Given the description of an element on the screen output the (x, y) to click on. 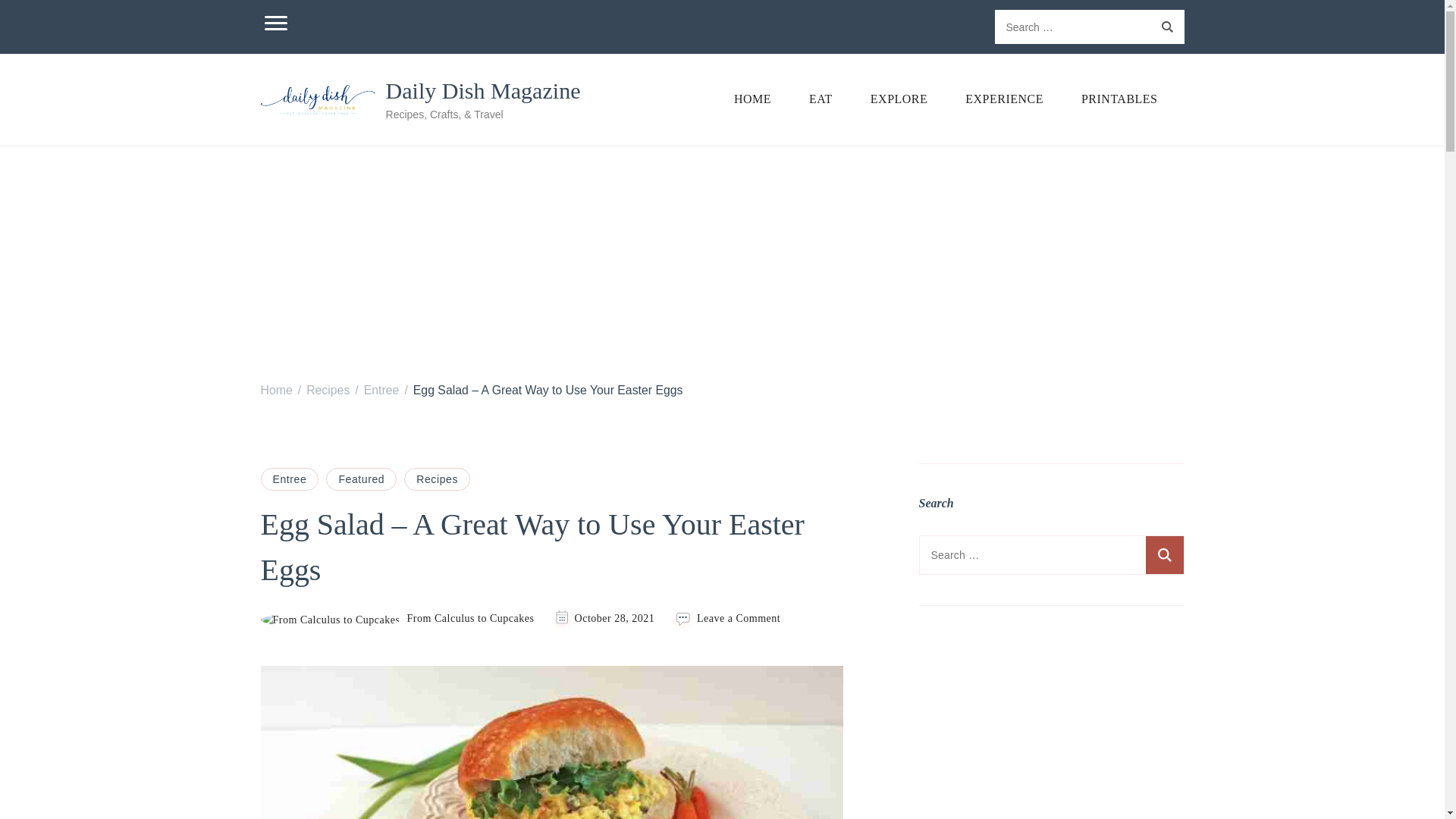
Search (1166, 26)
EXPLORE (898, 99)
Search (1163, 555)
EXPERIENCE (1004, 99)
Search (1166, 26)
EAT (820, 99)
Search (1163, 555)
Search (1166, 26)
Daily Dish Magazine (482, 90)
HOME (752, 99)
